Given the description of an element on the screen output the (x, y) to click on. 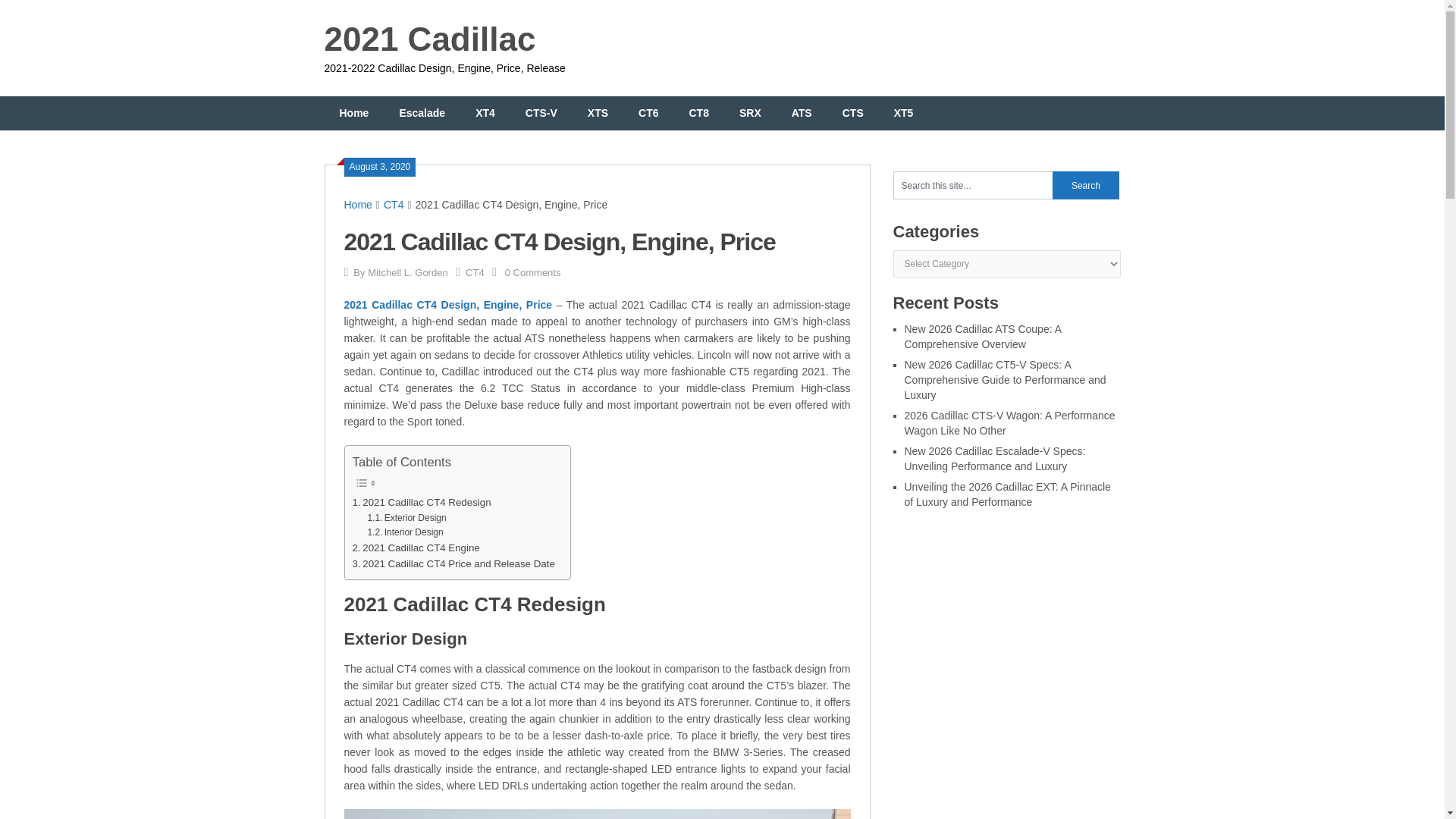
XT4 (485, 113)
Home (357, 204)
ATS (801, 113)
2021 Cadillac CT4 Engine (415, 547)
2021 Cadillac (429, 38)
2021 Cadillac CT4 Redesign (421, 502)
CT4 (393, 204)
Escalade (422, 113)
2021 Cadillac CT4 Design, Engine, Price (448, 304)
Search this site... (972, 185)
